Given the description of an element on the screen output the (x, y) to click on. 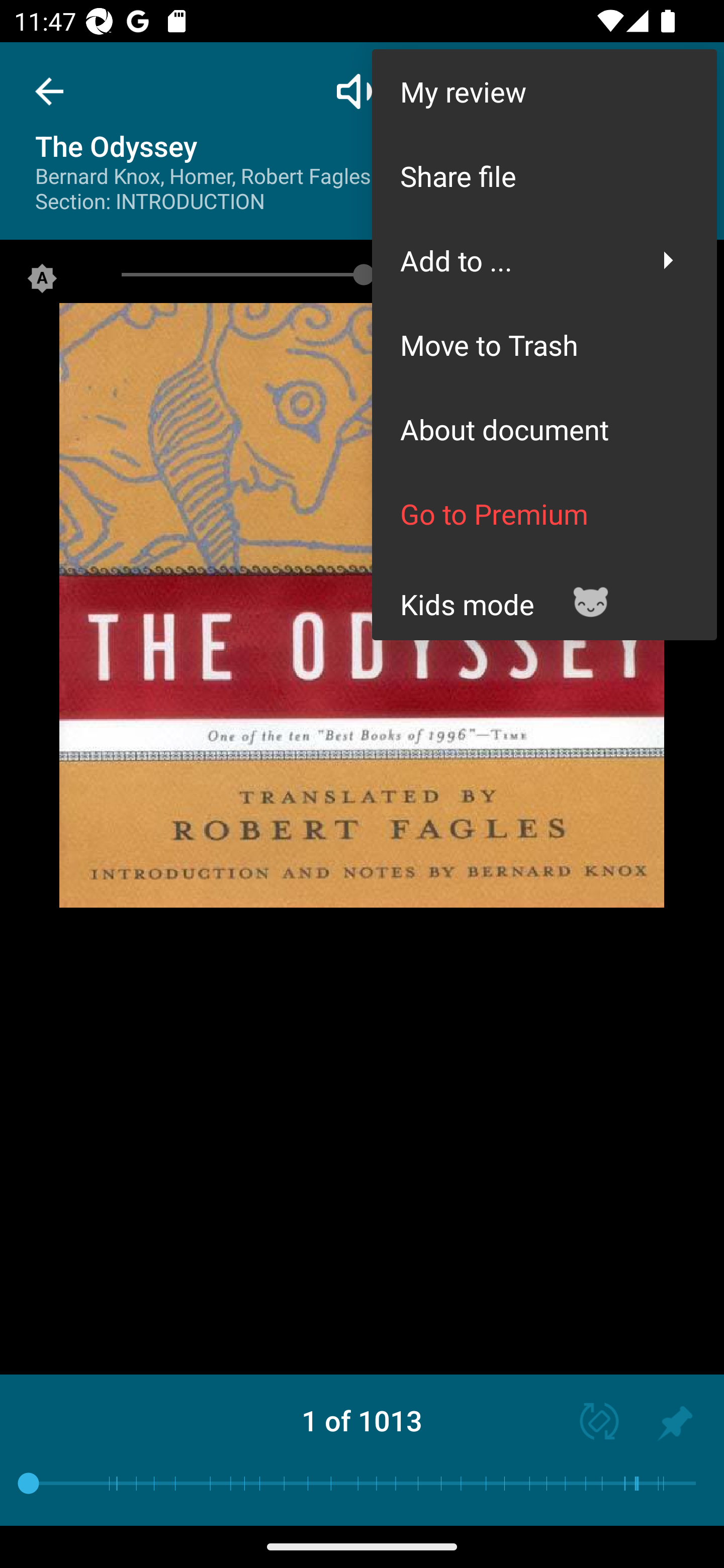
My review (544, 90)
Share file (544, 175)
Add to ... (544, 259)
Move to Trash (544, 344)
About document (544, 429)
Go to Premium (544, 513)
Kids mode     * (544, 597)
